Given the description of an element on the screen output the (x, y) to click on. 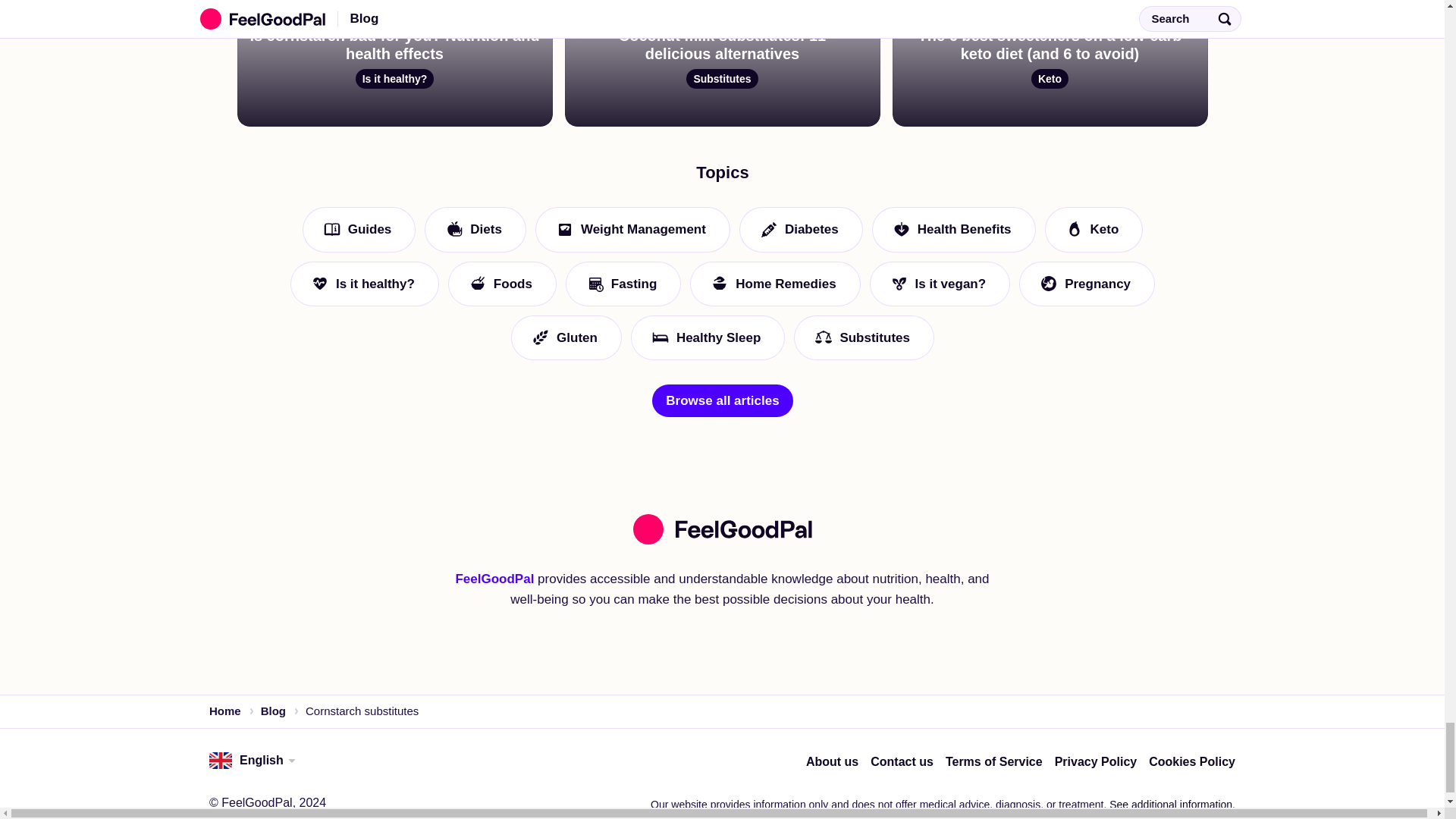
Diets (475, 546)
Keto (1092, 546)
Weight Management (631, 546)
Guides (357, 546)
Health Benefits (952, 546)
Diabetes (799, 546)
